Given the description of an element on the screen output the (x, y) to click on. 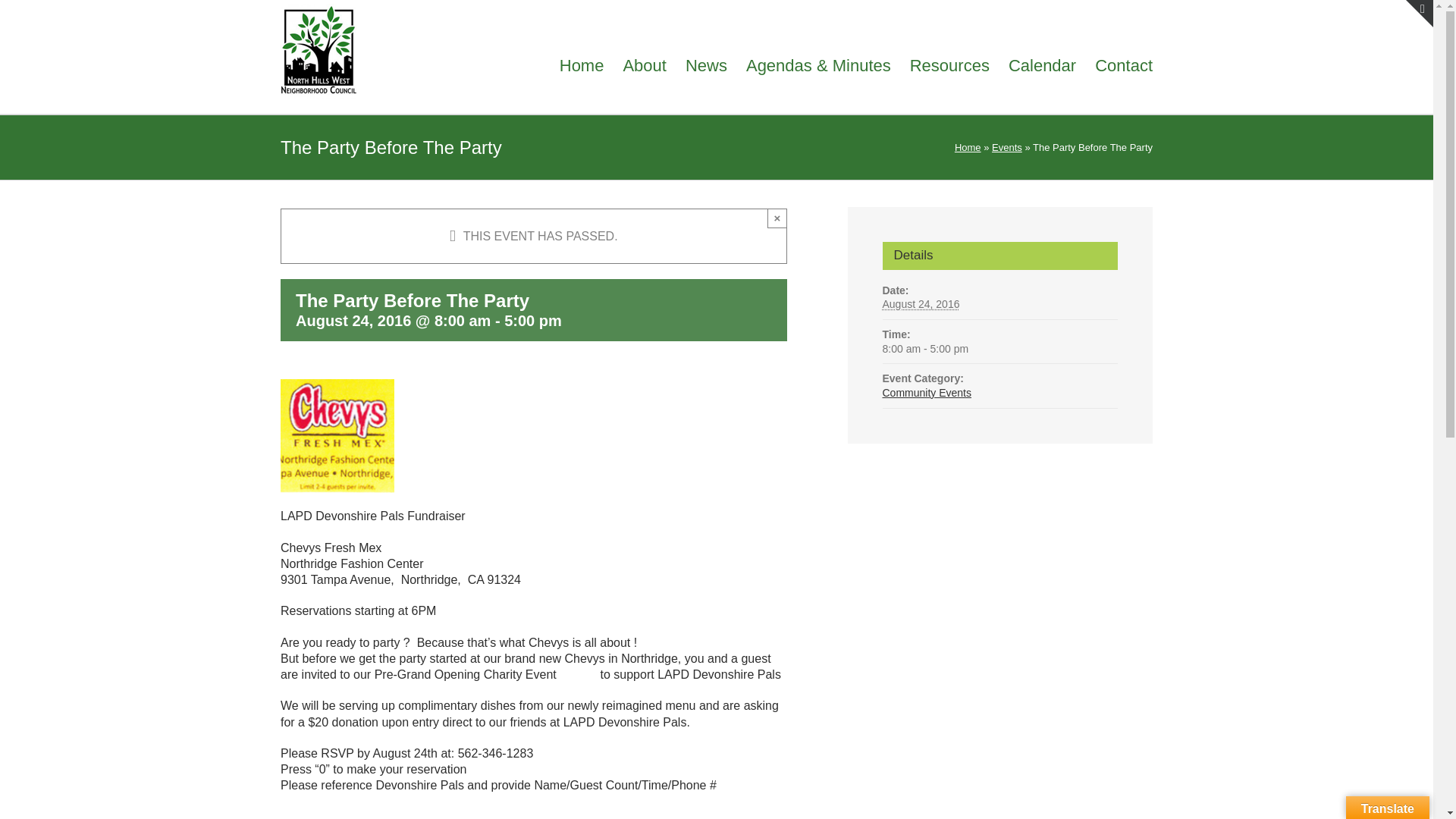
Resources (950, 63)
Home (968, 147)
Contact (1123, 63)
2016-08-24 (920, 304)
Events (1006, 147)
Calendar (1042, 63)
2016-08-24 (1000, 349)
